Given the description of an element on the screen output the (x, y) to click on. 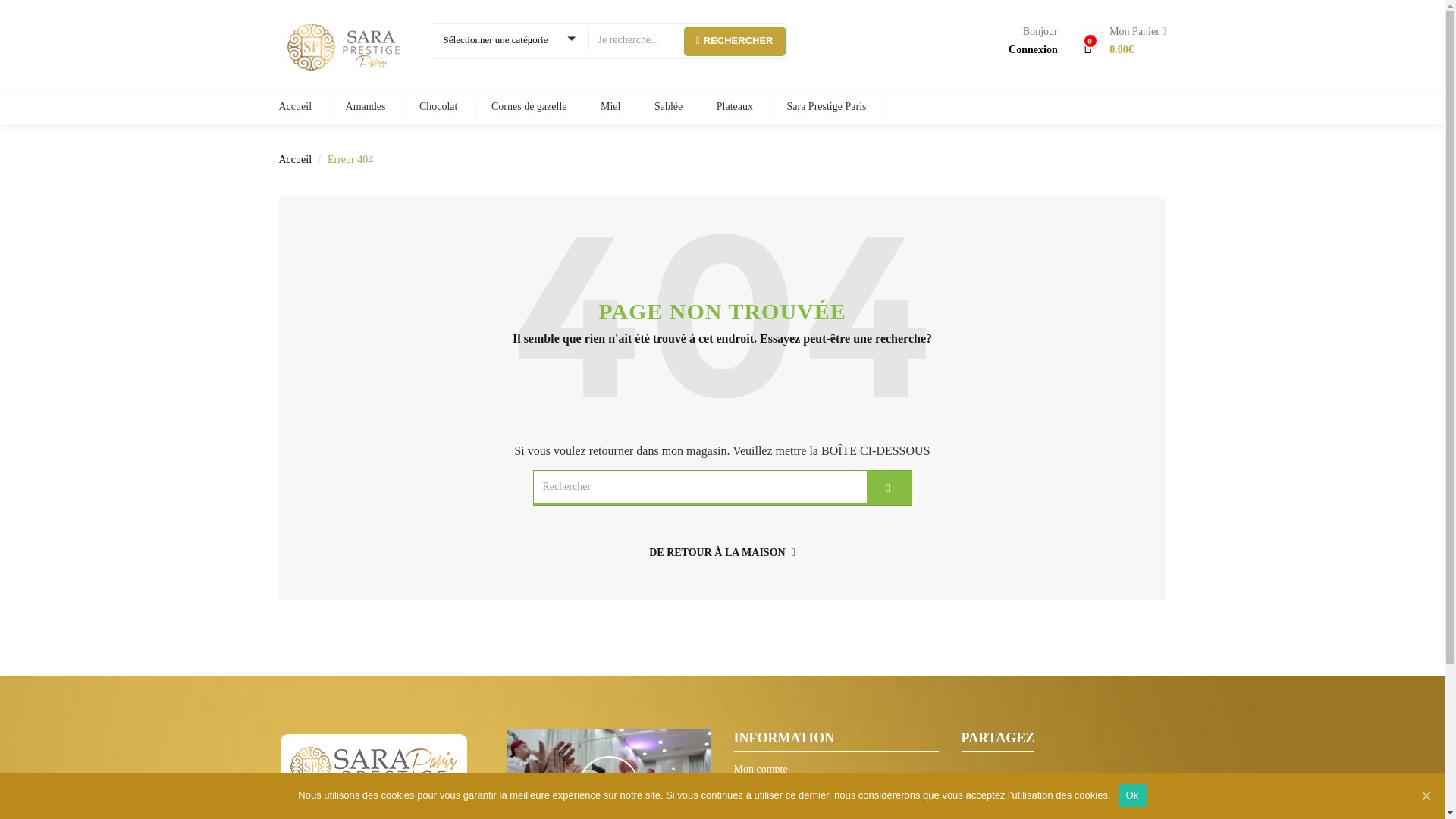
Connexion (1033, 49)
Voir votre panier (1131, 40)
Miel (609, 108)
Sara Prestige Paris (826, 108)
Accueil (296, 159)
Cornes de gazelle (529, 108)
RECHERCHER (735, 40)
Chocolat (438, 108)
Connexion (1033, 49)
Amandes (365, 108)
Accueil (303, 108)
Plateaux (734, 108)
